Given the description of an element on the screen output the (x, y) to click on. 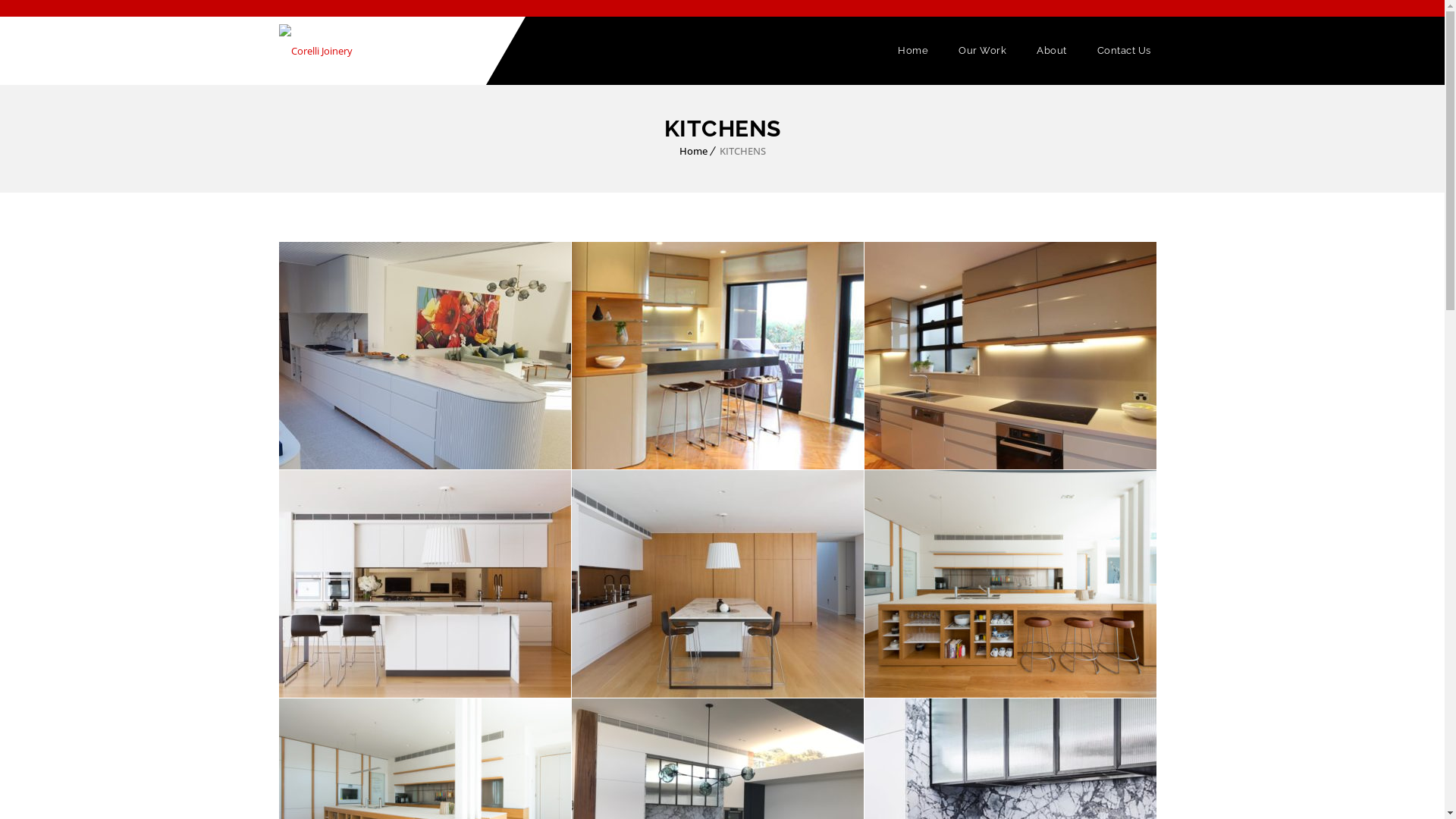
About Element type: text (1051, 50)
Corelli Joinery Element type: hover (315, 50)
Home Element type: text (693, 150)
Our Work Element type: text (982, 50)
KITCHENS1 Element type: hover (717, 355)
Home Element type: text (912, 50)
kitchen image010 Element type: hover (1010, 355)
Corelli Joinery Element type: hover (315, 50)
Contact Us Element type: text (1123, 50)
abc13 Element type: hover (717, 583)
abc14 Element type: hover (425, 583)
abc15 Element type: hover (425, 355)
Kitchen Library-in-Fernery-14-800x534 - Copy Element type: hover (1010, 583)
